Given the description of an element on the screen output the (x, y) to click on. 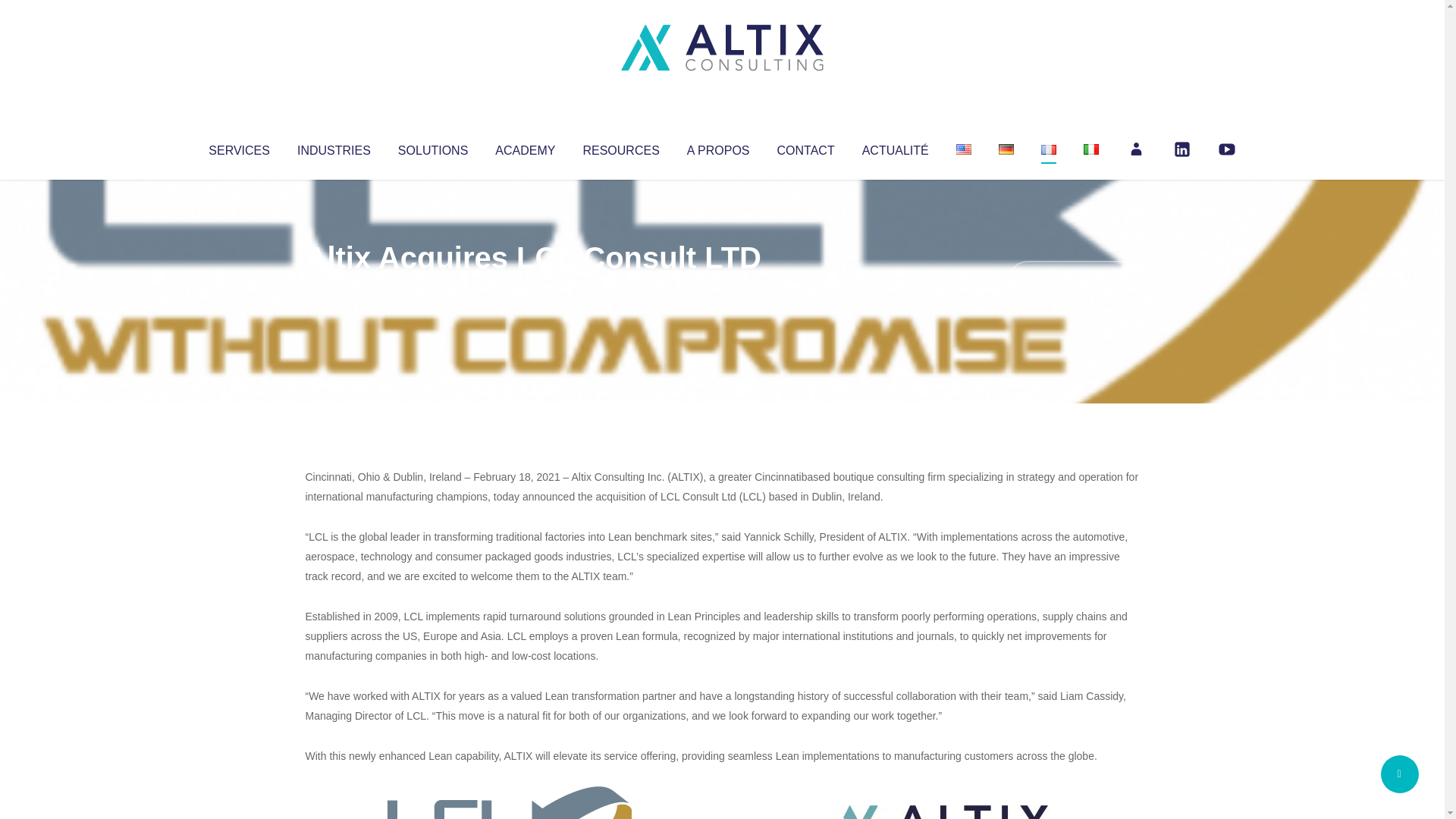
Uncategorized (530, 287)
ACADEMY (524, 146)
Articles par Altix (333, 287)
A PROPOS (718, 146)
RESOURCES (620, 146)
SOLUTIONS (432, 146)
SERVICES (238, 146)
INDUSTRIES (334, 146)
No Comments (1073, 278)
Altix (333, 287)
